Given the description of an element on the screen output the (x, y) to click on. 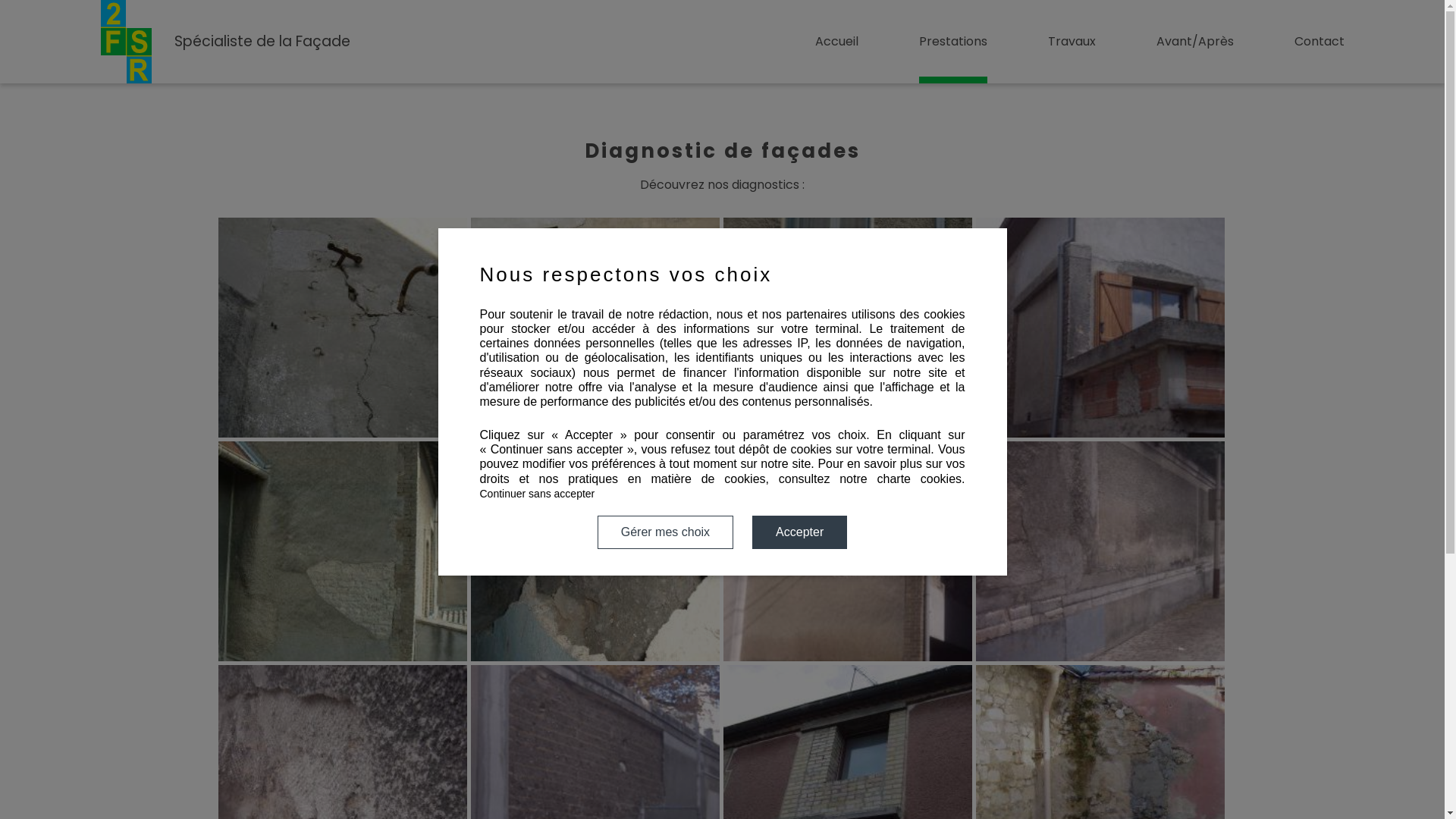
Accepter Element type: text (799, 532)
Accueil Element type: text (835, 41)
Travaux Element type: text (1071, 41)
charte cookies Element type: text (918, 478)
Contact Element type: text (1318, 41)
Prestations Element type: text (953, 41)
